Given the description of an element on the screen output the (x, y) to click on. 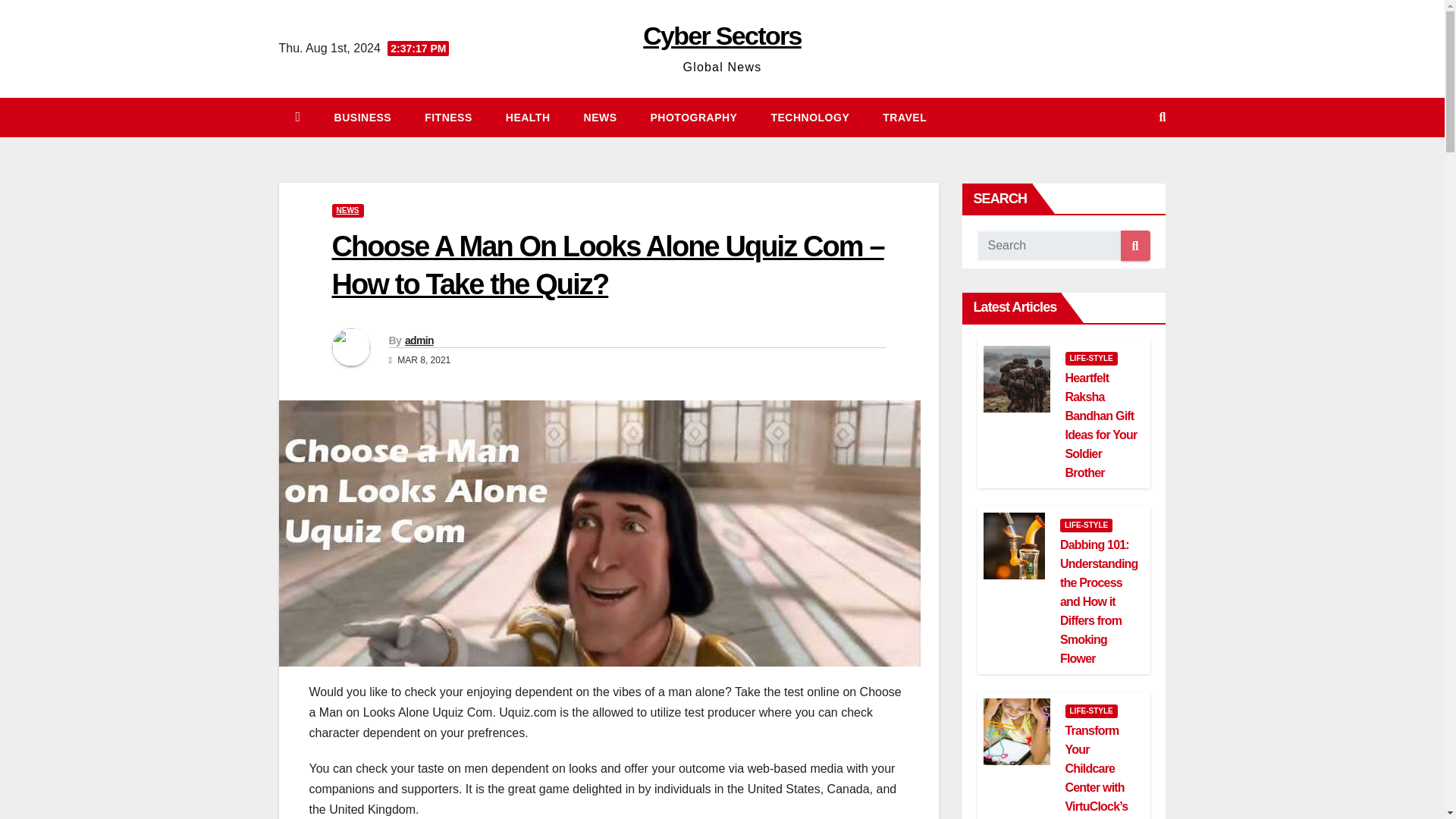
FITNESS (448, 117)
NEWS (600, 117)
Technology (810, 117)
Cyber Sectors (721, 35)
News (600, 117)
BUSINESS (363, 117)
Travel (904, 117)
NEWS (347, 210)
photography (693, 117)
PHOTOGRAPHY (693, 117)
admin (418, 340)
TRAVEL (904, 117)
Business (363, 117)
HEALTH (528, 117)
Fitness (448, 117)
